Given the description of an element on the screen output the (x, y) to click on. 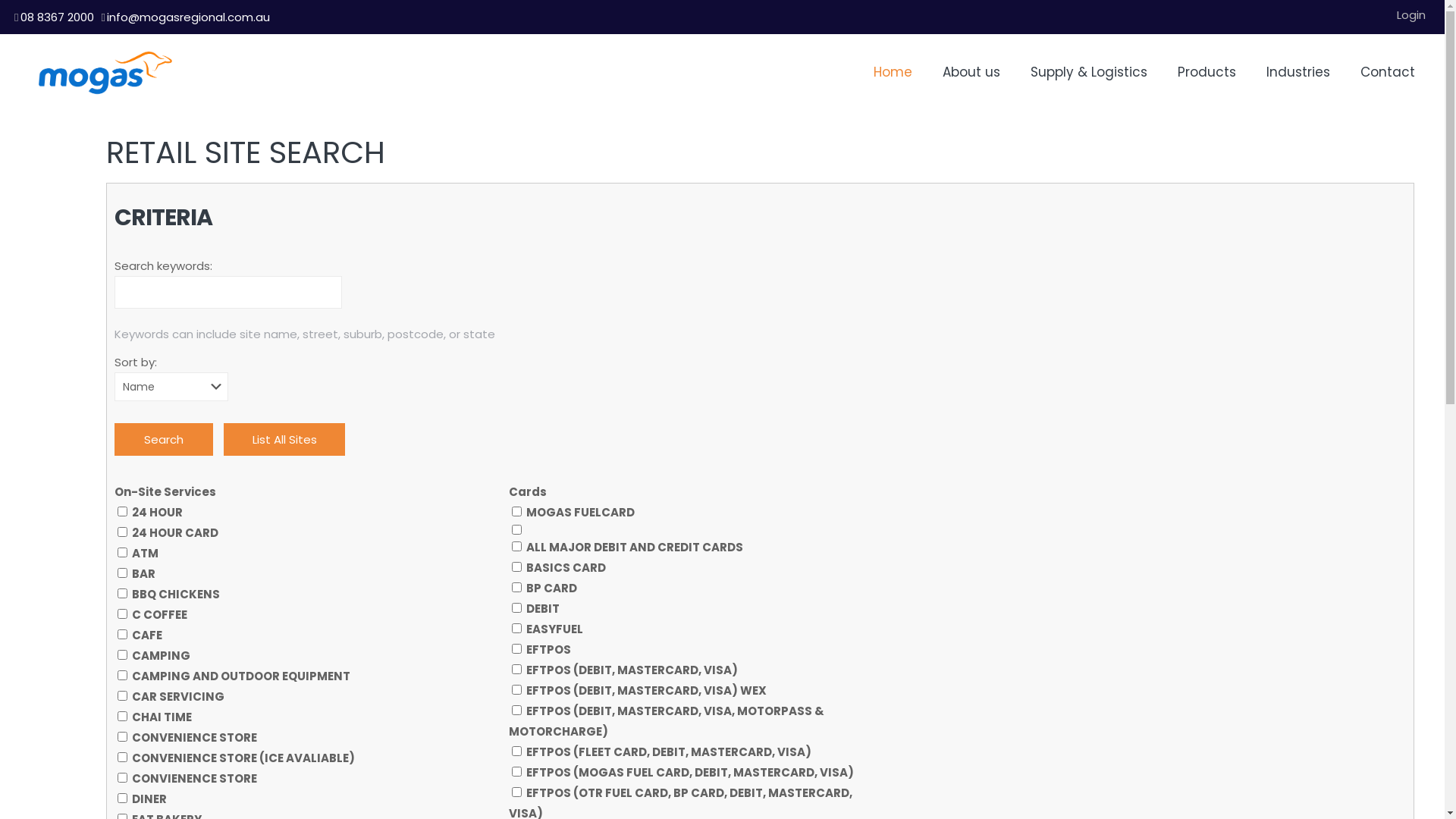
08 8367 2000 Element type: text (57, 17)
About us Element type: text (971, 71)
Home Element type: text (892, 71)
Supply & Logistics Element type: text (1088, 71)
List All Sites Element type: text (284, 439)
Mogas Regional Element type: hover (104, 71)
Contact Element type: text (1387, 71)
Products Element type: text (1206, 71)
info@mogasregional.com.au Element type: text (187, 17)
Industries Element type: text (1298, 71)
Search Element type: text (163, 439)
Login Element type: text (1410, 14)
